Given the description of an element on the screen output the (x, y) to click on. 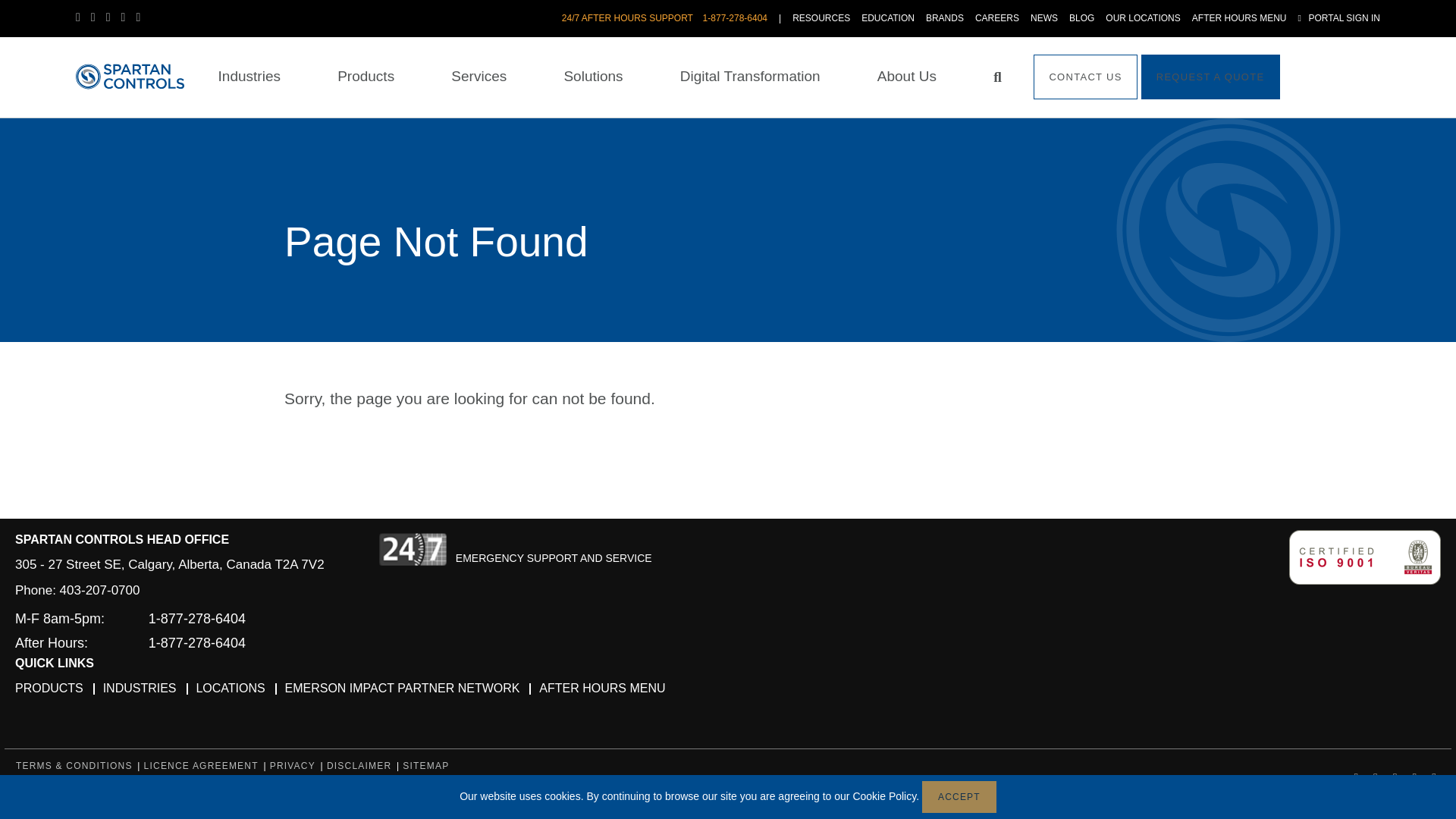
Linkedin (98, 16)
Youtube (128, 16)
Twitter (113, 16)
Brands (944, 18)
Youtube (128, 16)
Our Locations (1142, 18)
BRANDS (944, 18)
Facebook (82, 16)
CAREERS (997, 18)
Twitter (113, 16)
Linkedin (98, 16)
Instagram (143, 16)
AFTER HOURS MENU (1239, 18)
Accept (958, 797)
Instagram (143, 16)
